Given the description of an element on the screen output the (x, y) to click on. 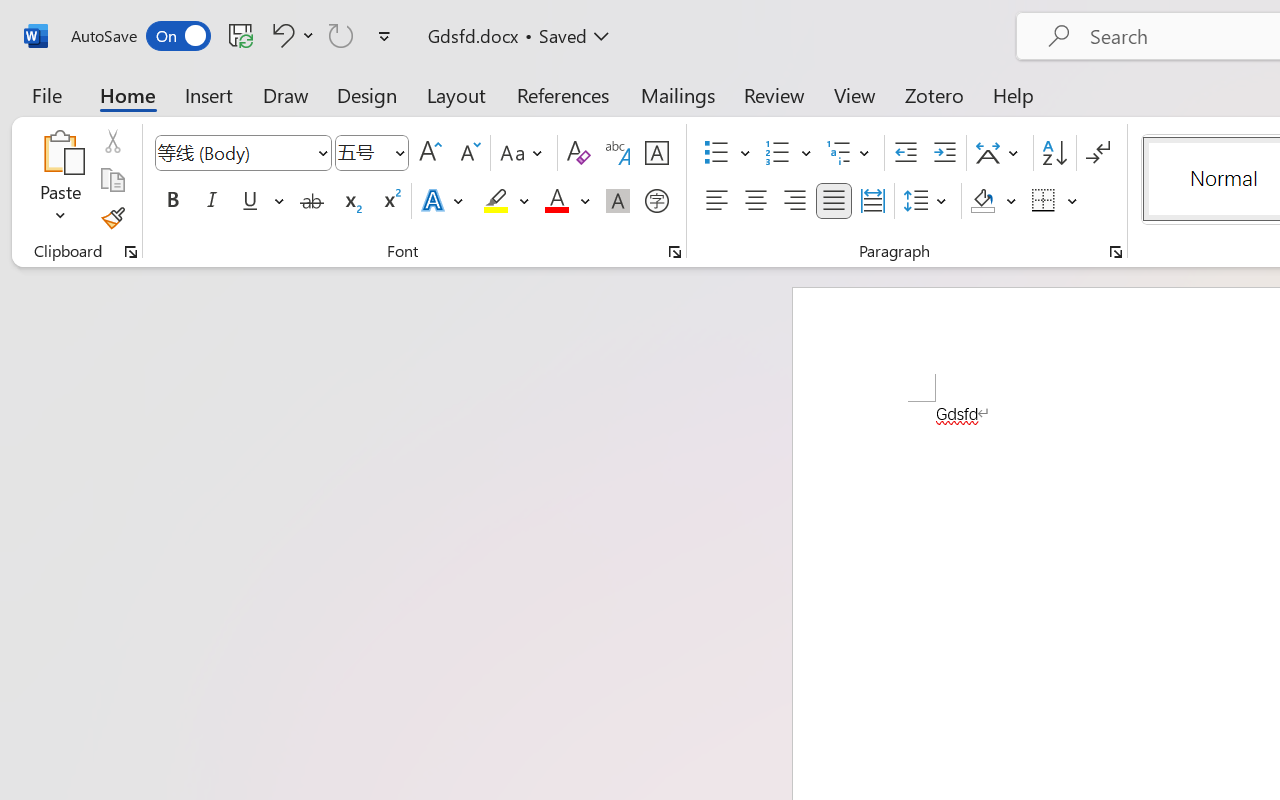
Undo Apply Quick Style (290, 35)
